Given the description of an element on the screen output the (x, y) to click on. 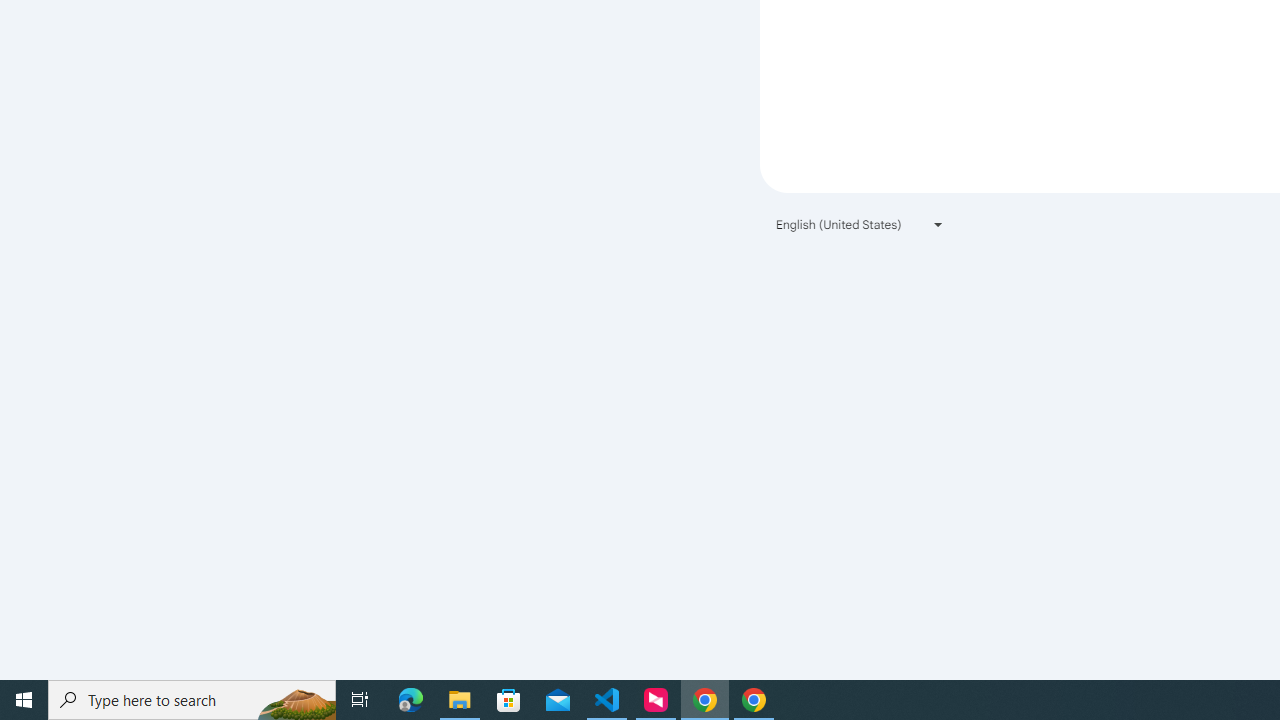
English (United States) (860, 224)
